Given the description of an element on the screen output the (x, y) to click on. 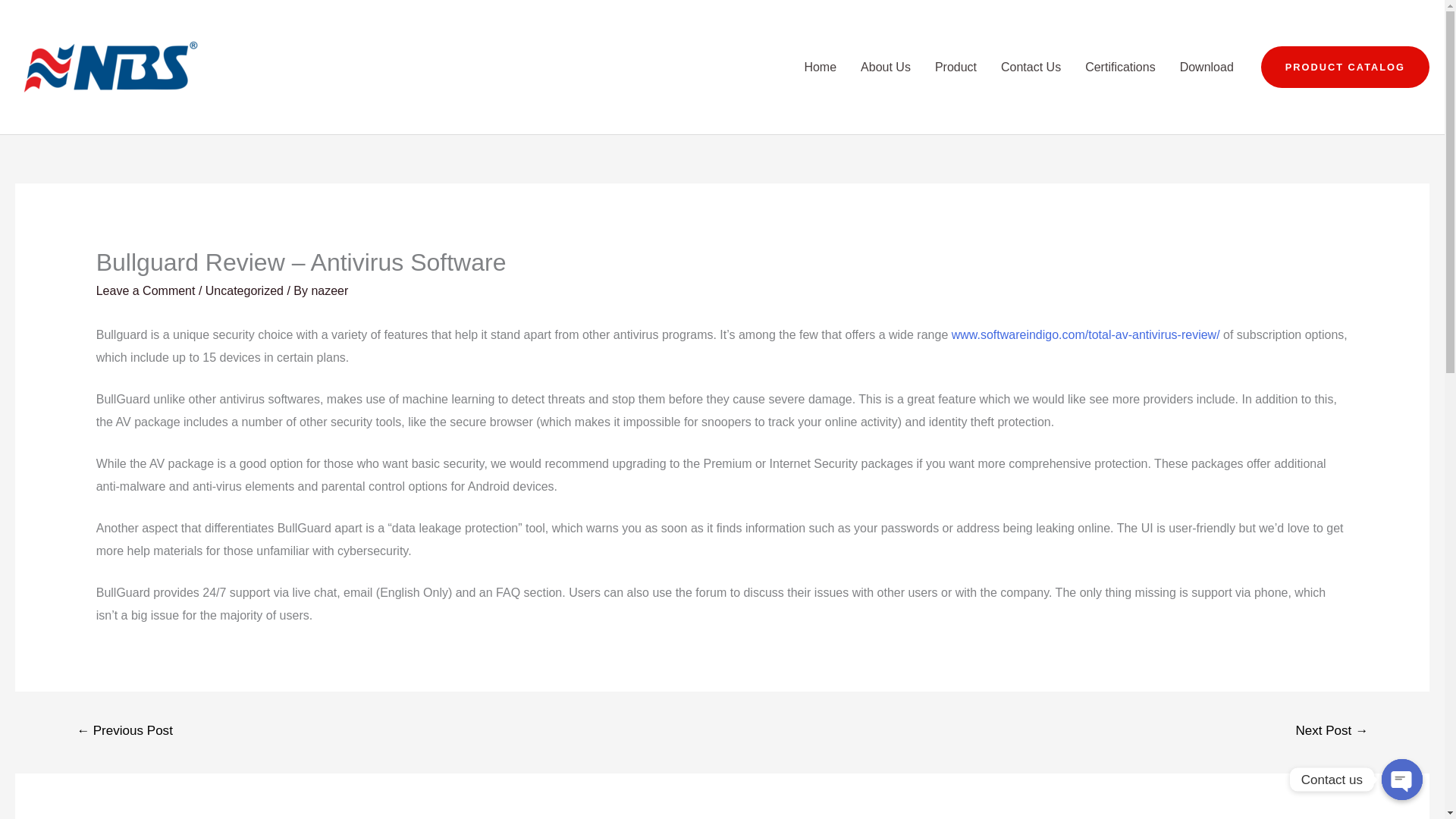
Download (1206, 67)
About Us (885, 67)
Uncategorized (244, 290)
PRODUCT CATALOG (1344, 66)
View all posts by nazeer (329, 290)
Home (820, 67)
nazeer (329, 290)
Certifications (1120, 67)
Contact Us (1030, 67)
Leave a Comment (145, 290)
